Given the description of an element on the screen output the (x, y) to click on. 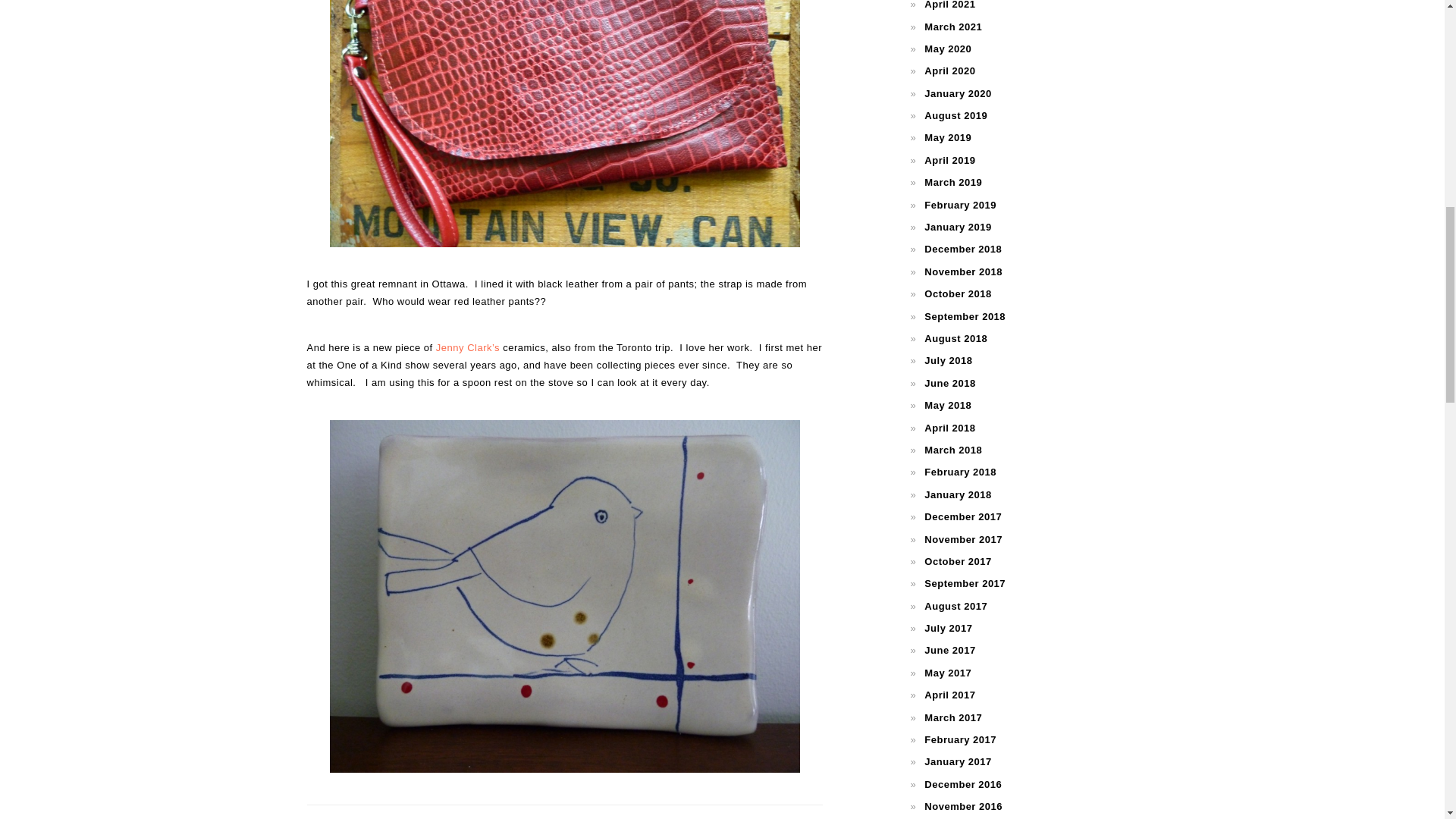
red croc clutch (564, 123)
March 2021 (952, 26)
May 2020 (947, 48)
April 2021 (949, 4)
